Given the description of an element on the screen output the (x, y) to click on. 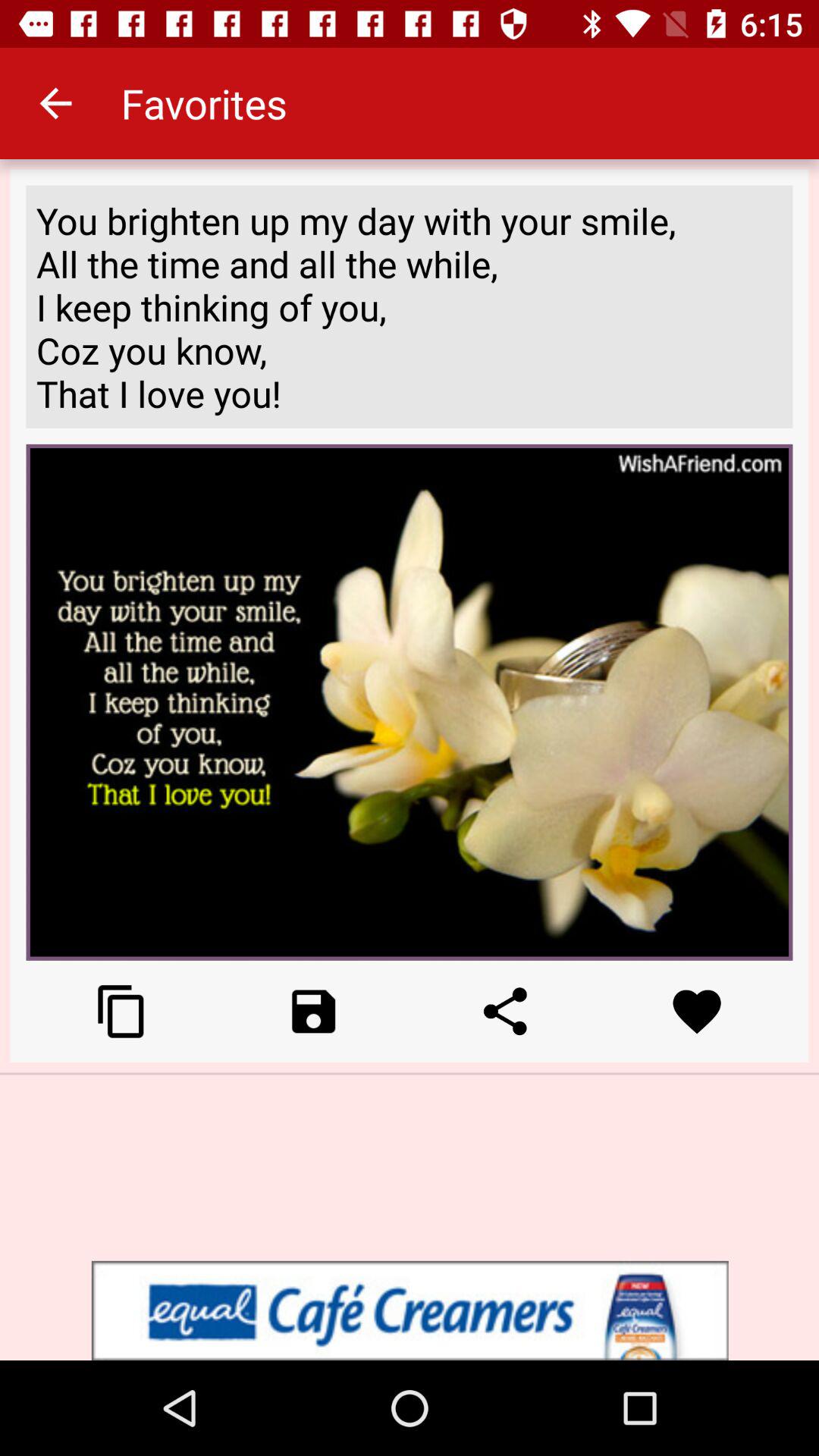
click heart to favorite (696, 1011)
